Given the description of an element on the screen output the (x, y) to click on. 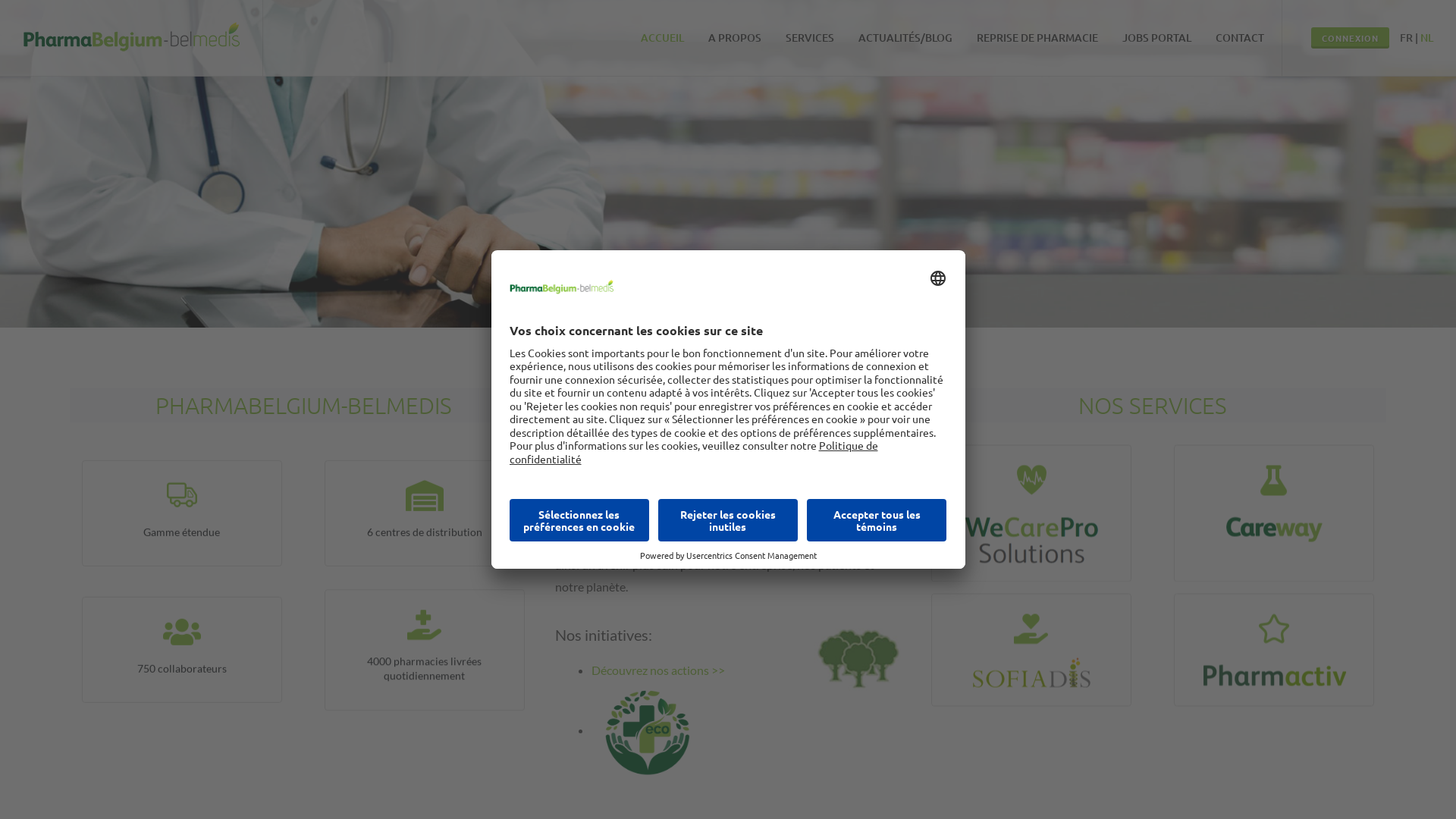
JOBS PORTAL Element type: text (1156, 37)
NL Element type: text (1426, 37)
Zwijnaarde Element type: text (376, 520)
Houdeng Element type: text (482, 520)
Hoboken Element type: text (389, 507)
WeCarePro Solutions Element type: text (1067, 482)
ACCUEIL Element type: text (662, 37)
Eppegem Element type: text (435, 507)
Alleur Element type: text (474, 507)
CONNEXION Element type: text (1350, 37)
Cliquez ici Element type: text (155, 656)
REPRISE DE PHARMACIE Element type: text (1037, 37)
CONTACT Element type: text (1239, 37)
Unipack Element type: text (1032, 495)
Tessenderlo Element type: text (432, 520)
WeCarePro Element type: text (988, 482)
SERVICES Element type: text (809, 37)
A PROPOS Element type: text (734, 37)
Produits de notre propre marque Element type: text (1282, 513)
